Given the description of an element on the screen output the (x, y) to click on. 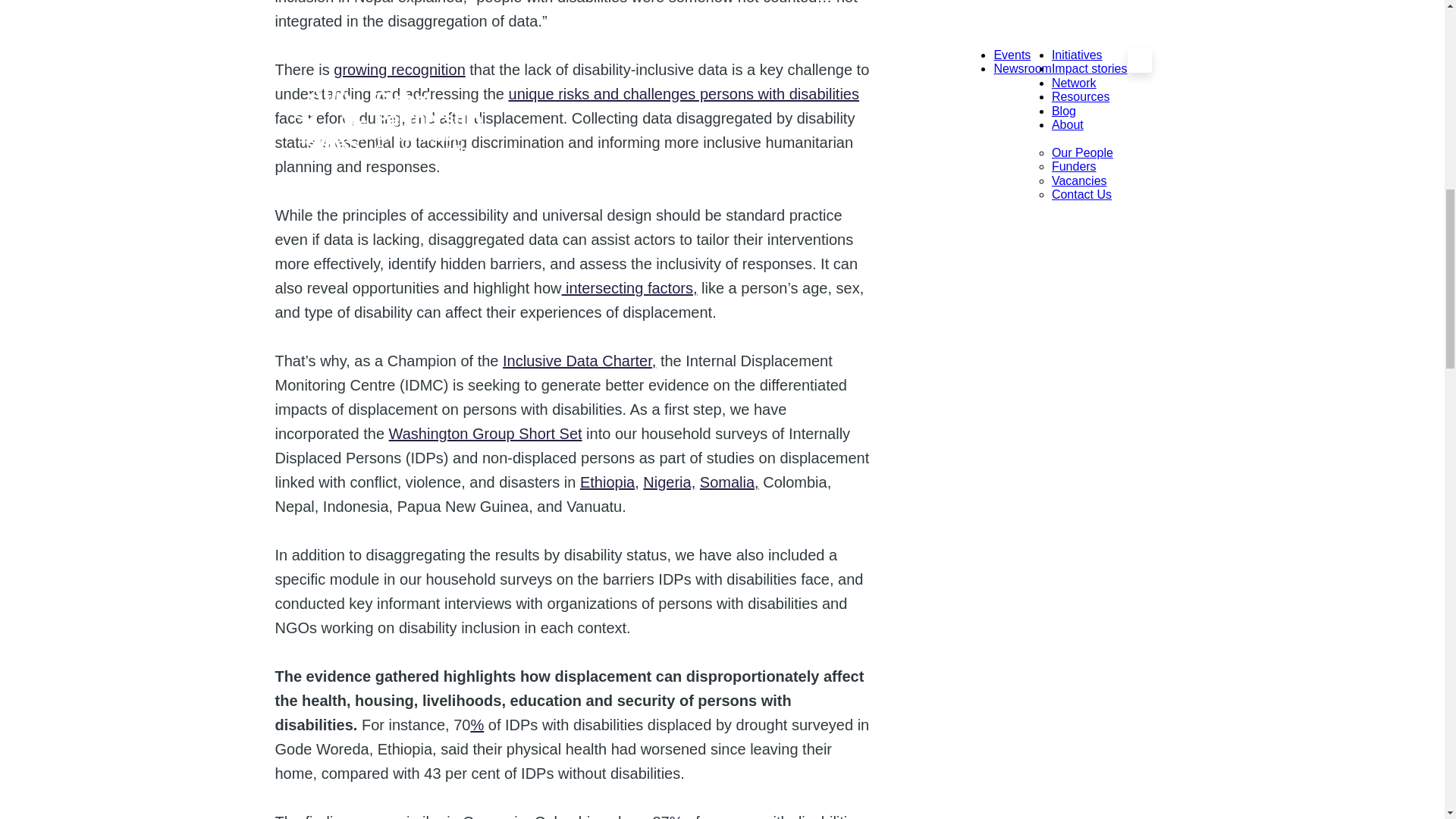
unique risks and challenges persons with disabilities (683, 93)
Washington Group Short Set (485, 433)
Nigeria, (669, 482)
Inclusive Data Charter, (579, 360)
intersecting factors, (629, 288)
growing recognition (398, 69)
Somalia, (729, 482)
Ethiopia (606, 482)
